Given the description of an element on the screen output the (x, y) to click on. 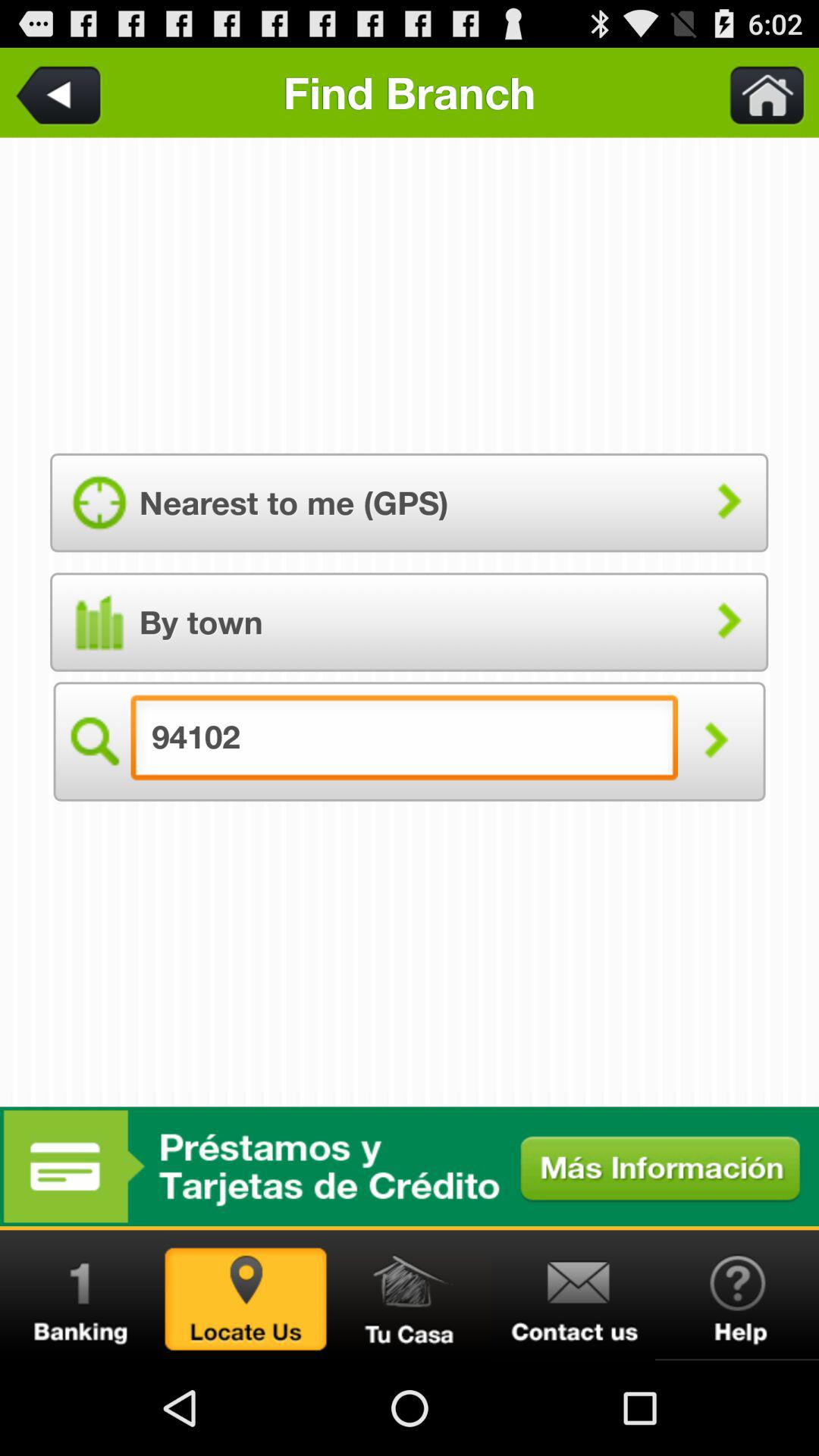
click to search (715, 741)
